Given the description of an element on the screen output the (x, y) to click on. 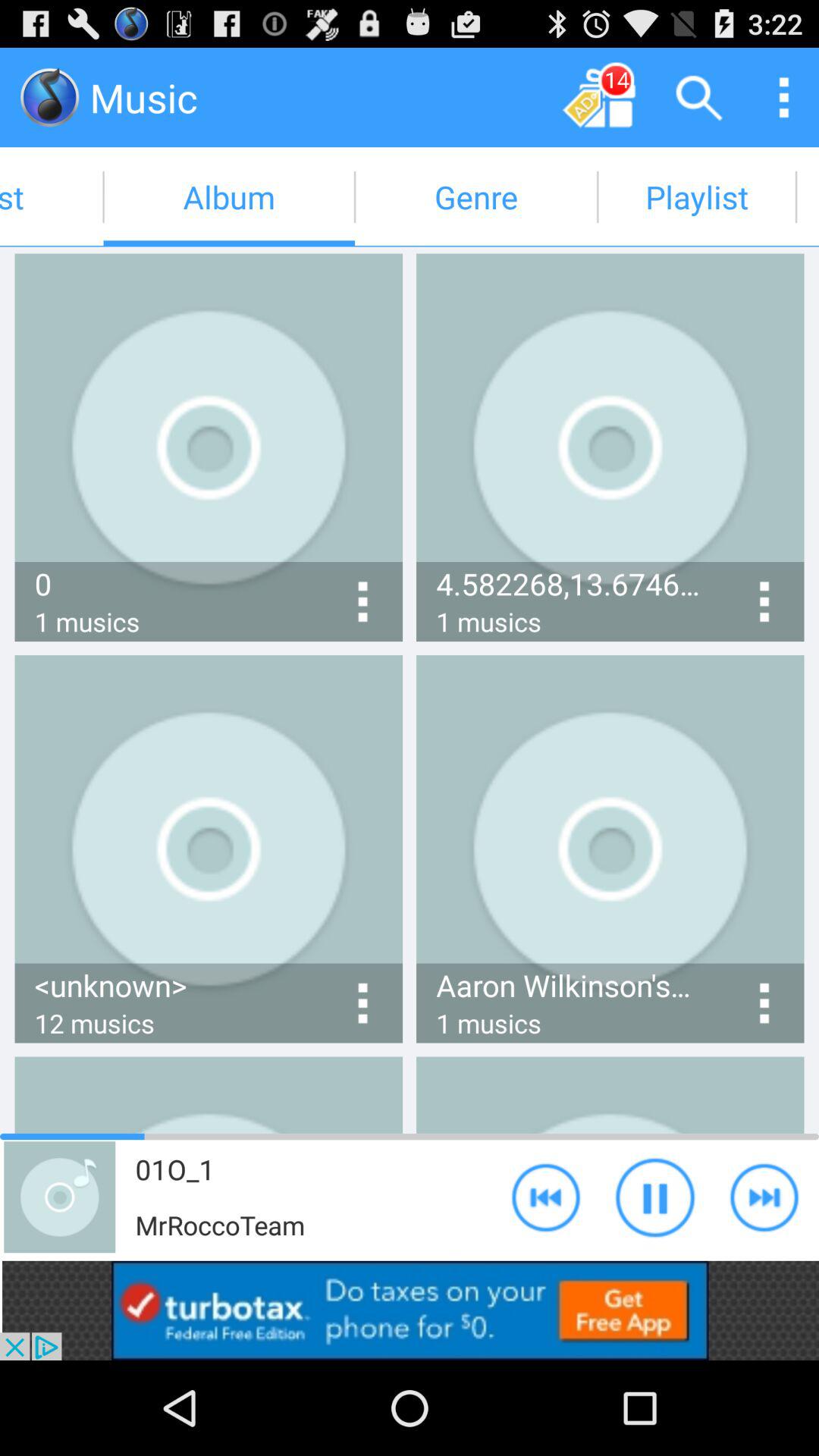
search (699, 97)
